Given the description of an element on the screen output the (x, y) to click on. 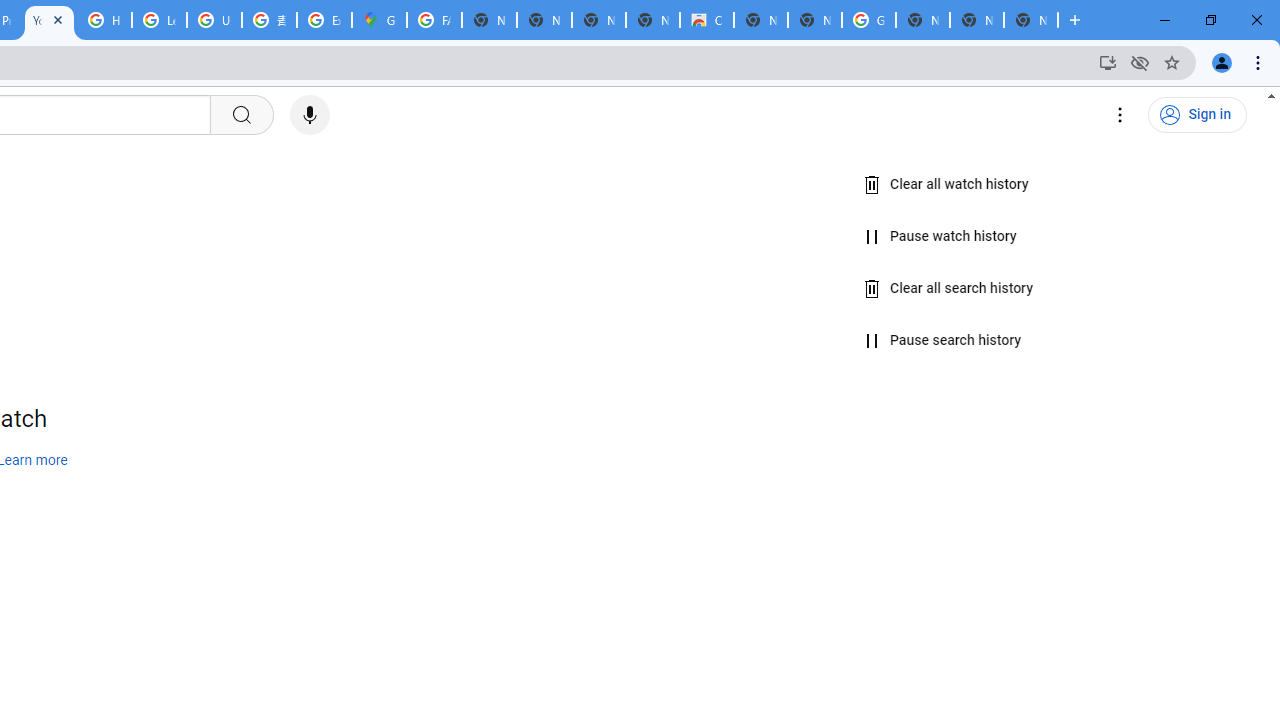
Google Maps (379, 20)
Explore new street-level details - Google Maps Help (324, 20)
New Tab (1030, 20)
New Tab (922, 20)
Clear all watch history (946, 185)
Clear all search history (949, 288)
